Given the description of an element on the screen output the (x, y) to click on. 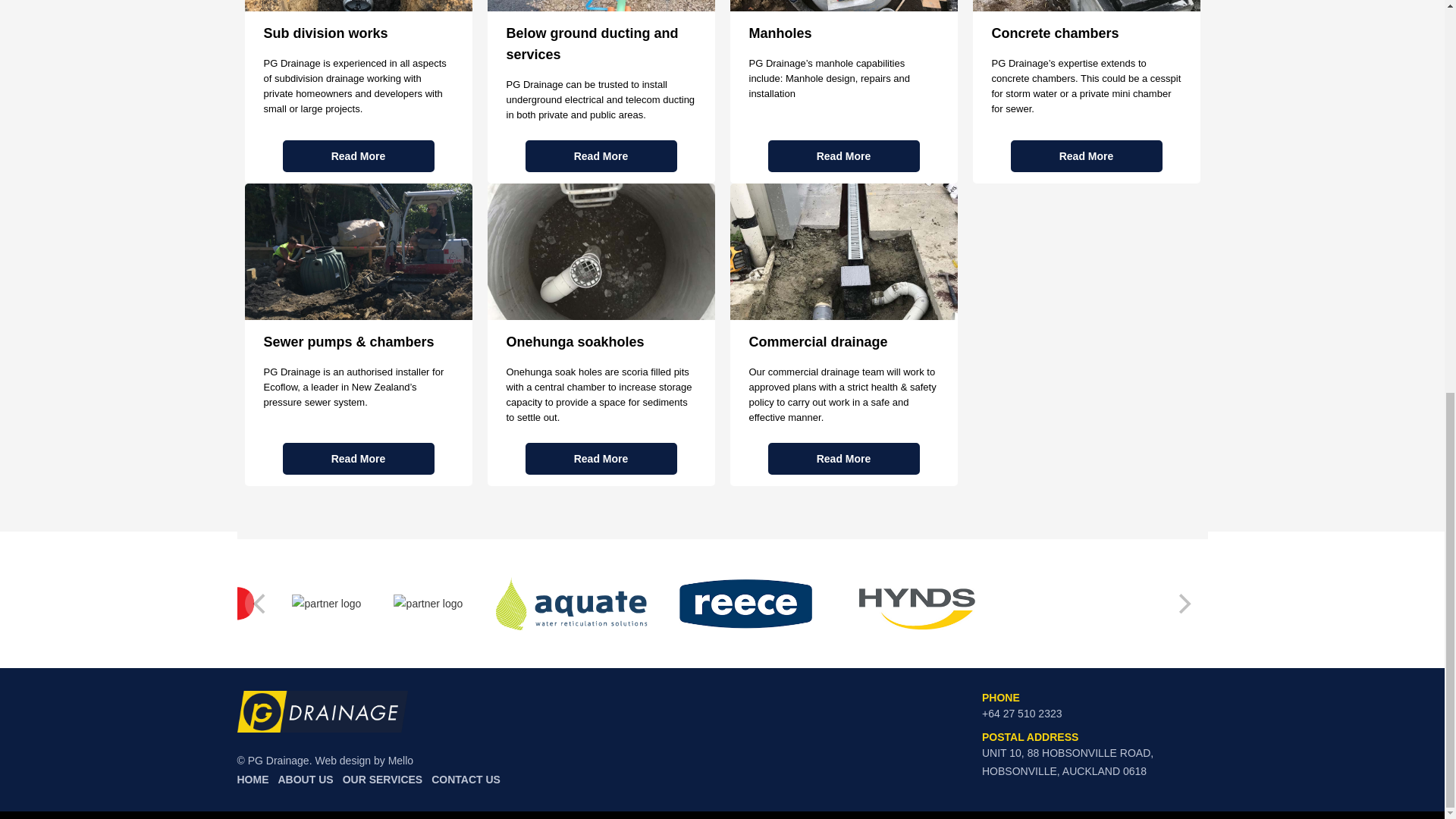
Read More (600, 155)
ABOUT US (305, 779)
HOME (254, 779)
Read More (1085, 155)
Read More (842, 459)
Read More (842, 155)
Read More (357, 459)
Read More (357, 155)
CONTACT US (463, 779)
OUR SERVICES (382, 779)
Read More (600, 459)
